Given the description of an element on the screen output the (x, y) to click on. 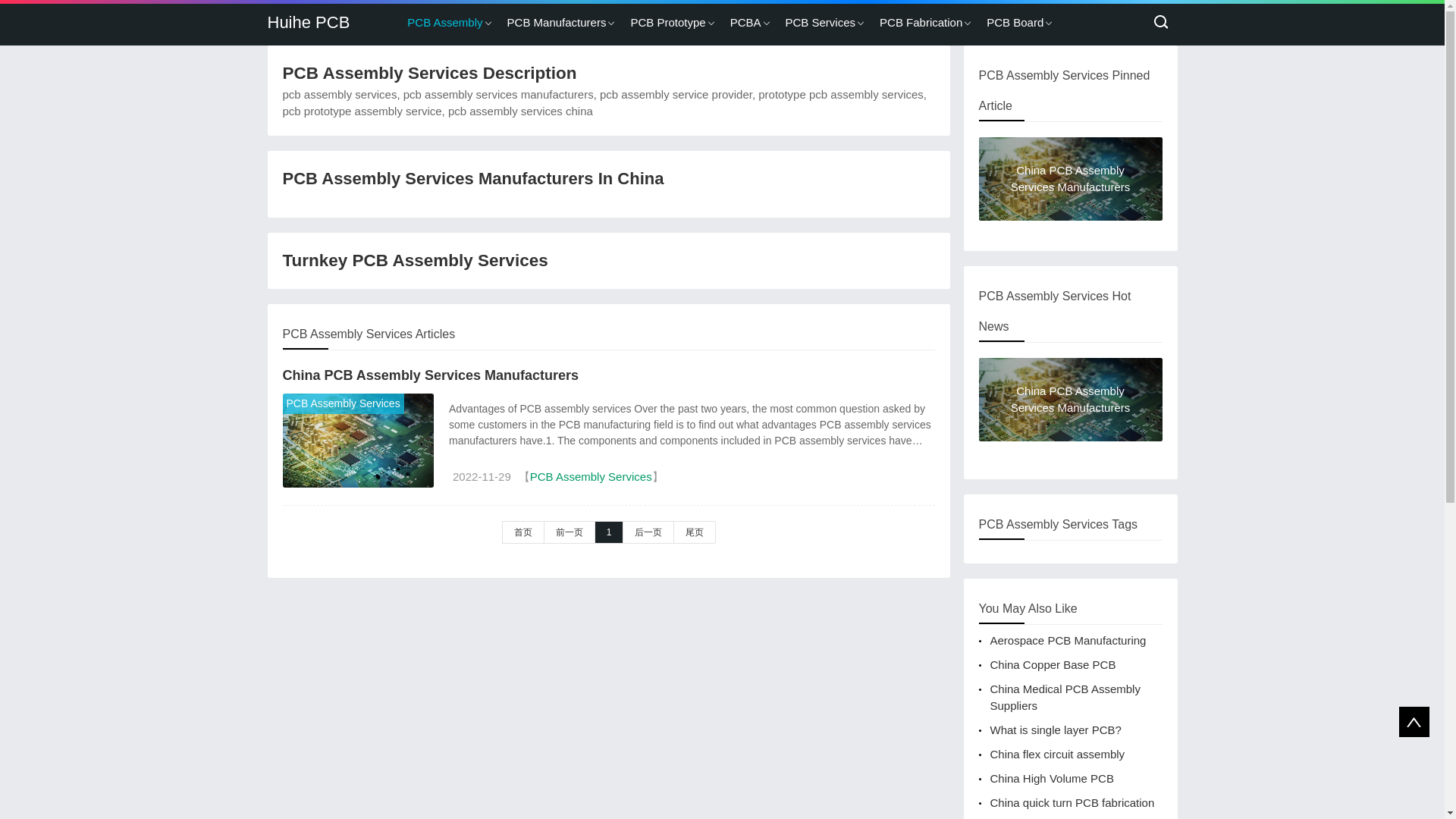
PCB Assembly Services (343, 403)
China quick turn PCB fabrication (1072, 802)
PCBA (745, 22)
PCBA (745, 22)
PCB Manufacturers (556, 22)
China PCB Assembly Services Manufacturers (1069, 414)
China PCB Assembly Services Manufacturers (357, 439)
PCB Fabrication (920, 22)
PCB Services (820, 22)
China Medical PCB Assembly Suppliers (1065, 696)
PCB Prototype (667, 22)
Aerospace PCB Manufacturing (1068, 640)
China PCB Assembly Services Manufacturers (430, 374)
China flex circuit assembly (1057, 753)
China Copper Base PCB (1053, 664)
